Given the description of an element on the screen output the (x, y) to click on. 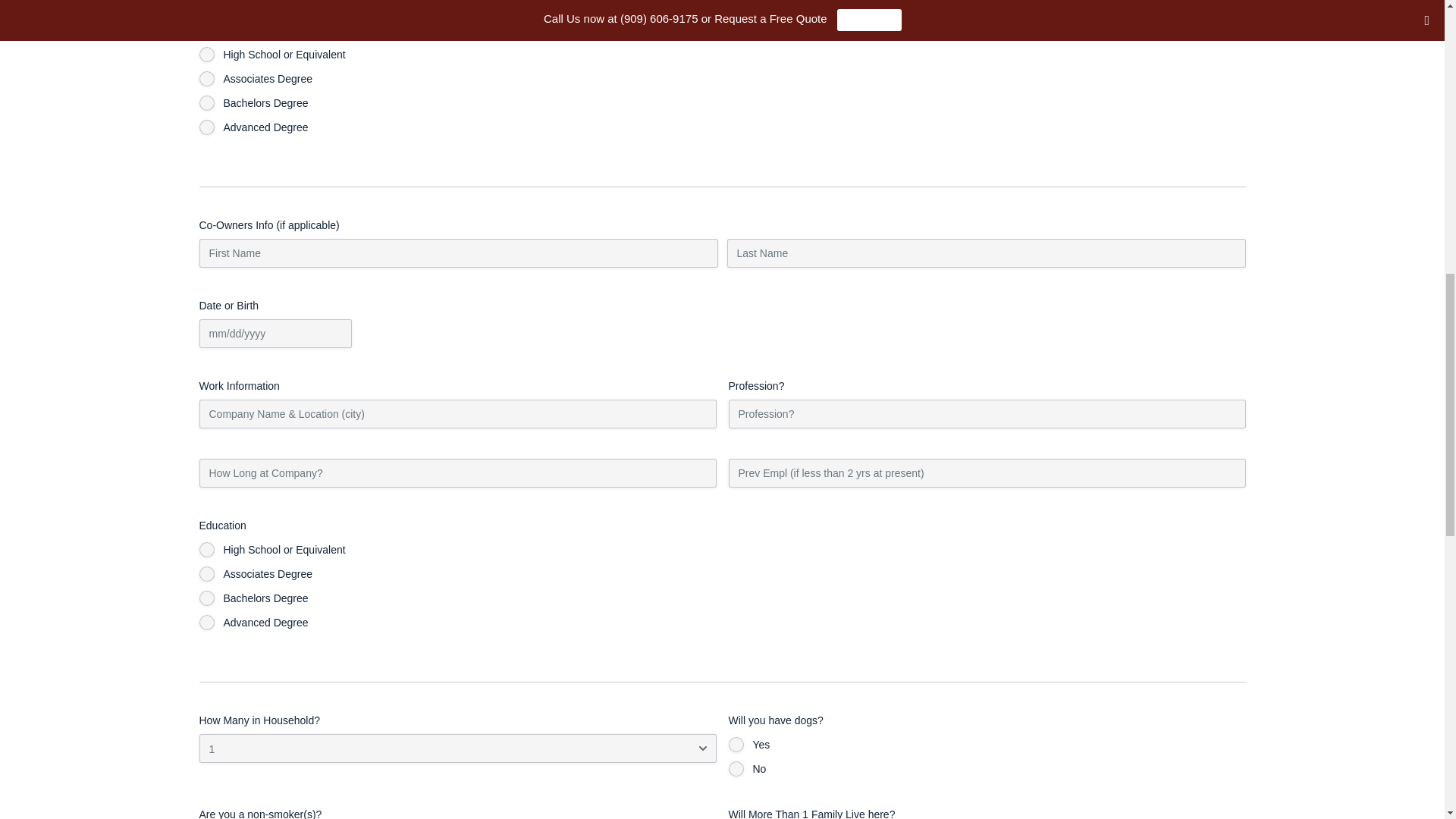
Associates Degree (206, 78)
High School or Equivalent (206, 54)
Bachelors Degree (206, 102)
Advanced Degree (206, 127)
